Given the description of an element on the screen output the (x, y) to click on. 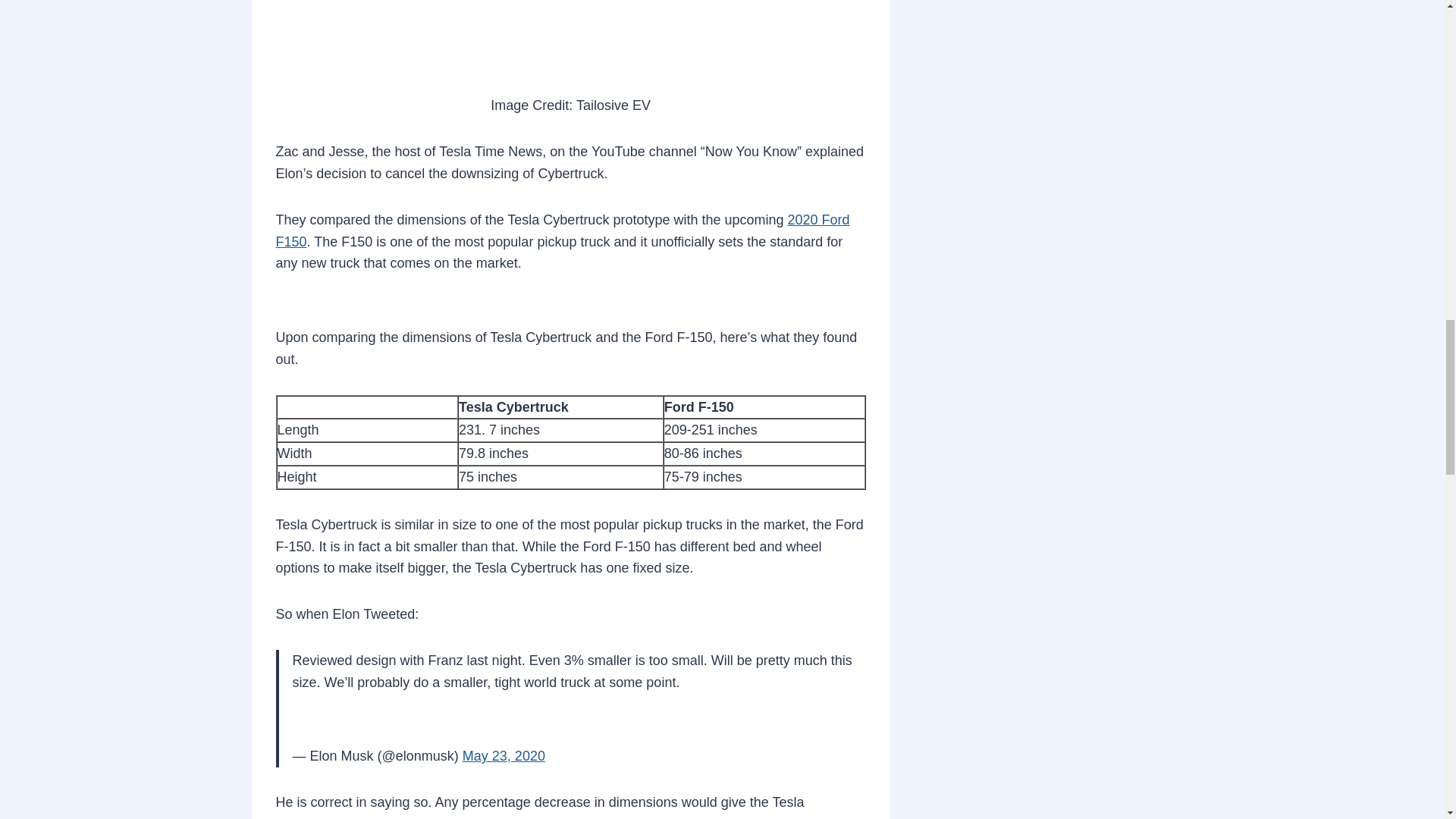
2020 Ford F150 (563, 230)
May 23, 2020 (503, 755)
